Given the description of an element on the screen output the (x, y) to click on. 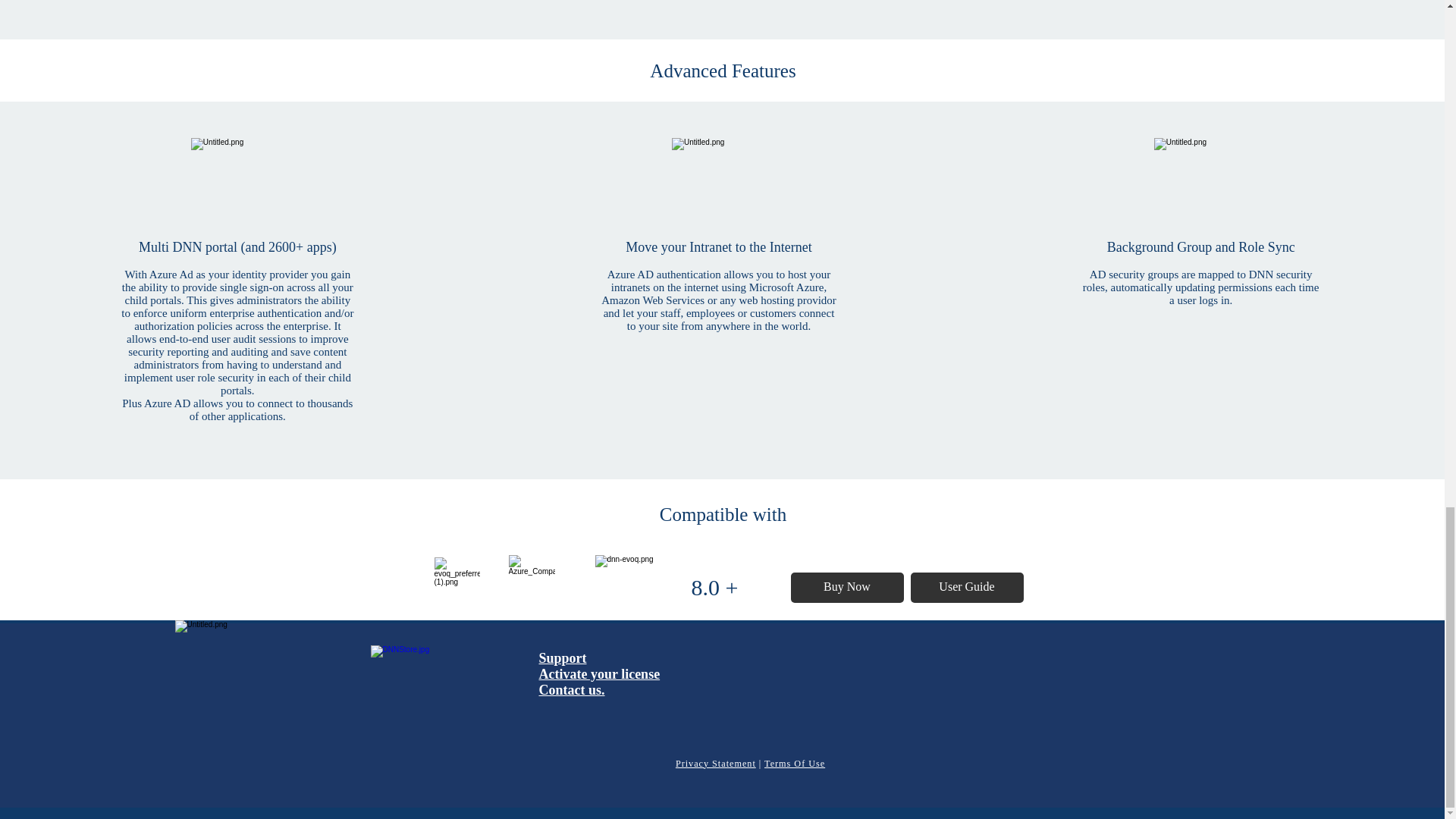
Activate your license (598, 672)
Buy Now (846, 586)
Privacy Statement (715, 763)
Support (562, 657)
Terms Of Use (794, 763)
User Guide (966, 586)
Contact us. (571, 689)
